Given the description of an element on the screen output the (x, y) to click on. 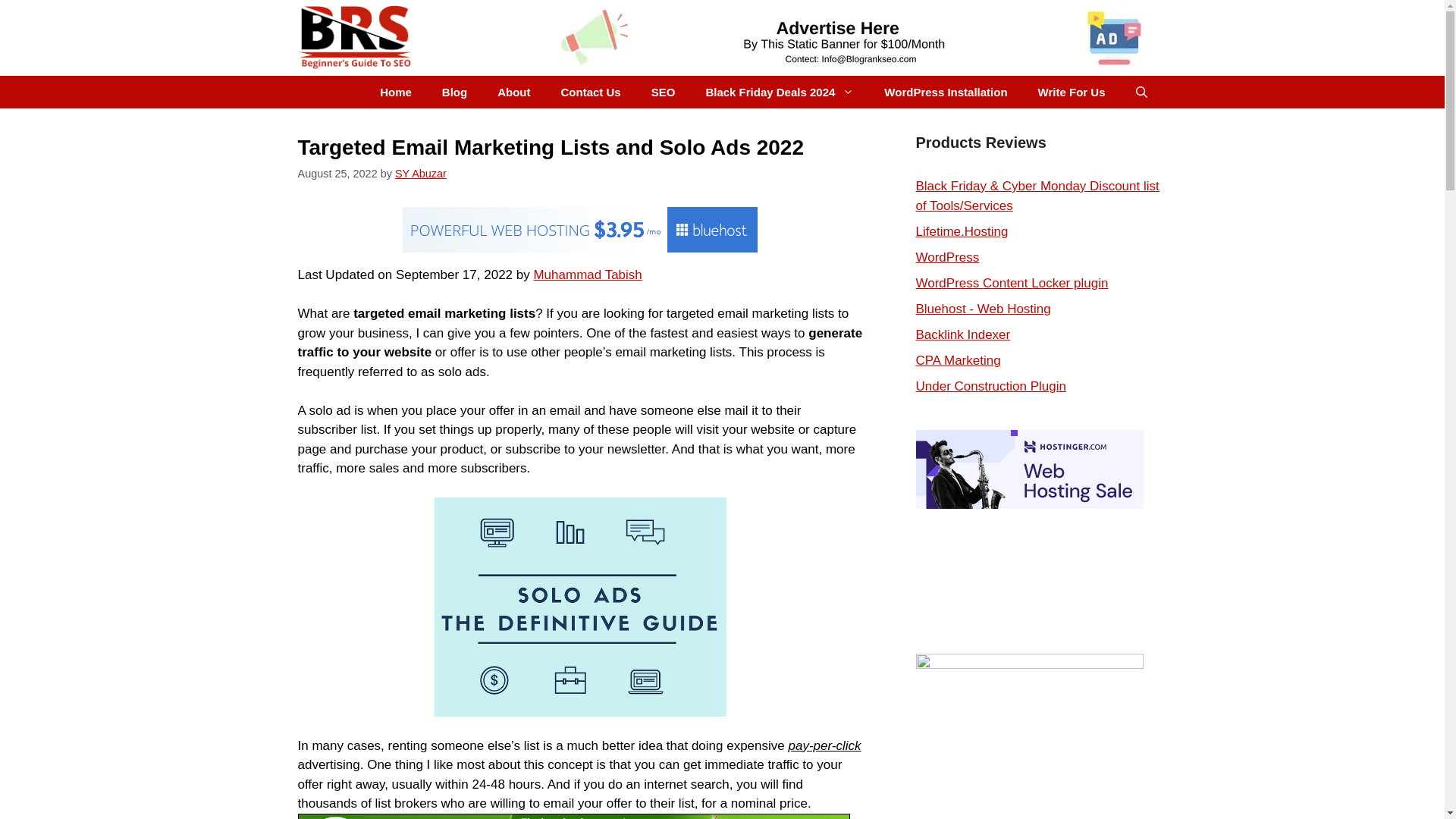
Write For Us (1072, 92)
Home (395, 92)
Contact Us (591, 92)
Lifetime.Hosting (962, 231)
5 (1127, 298)
Self Hosted WordPress.org vs. Free WordPress.com 2022 (947, 257)
5 (1127, 253)
Bluehost - Web Hosting (983, 309)
Muhammad Tabish (587, 274)
WordPress Installation (945, 92)
SY Abuzar (420, 173)
SEO (663, 92)
View all posts by SY Abuzar (420, 173)
Blog (453, 92)
Under Construction Plugin (990, 386)
